Given the description of an element on the screen output the (x, y) to click on. 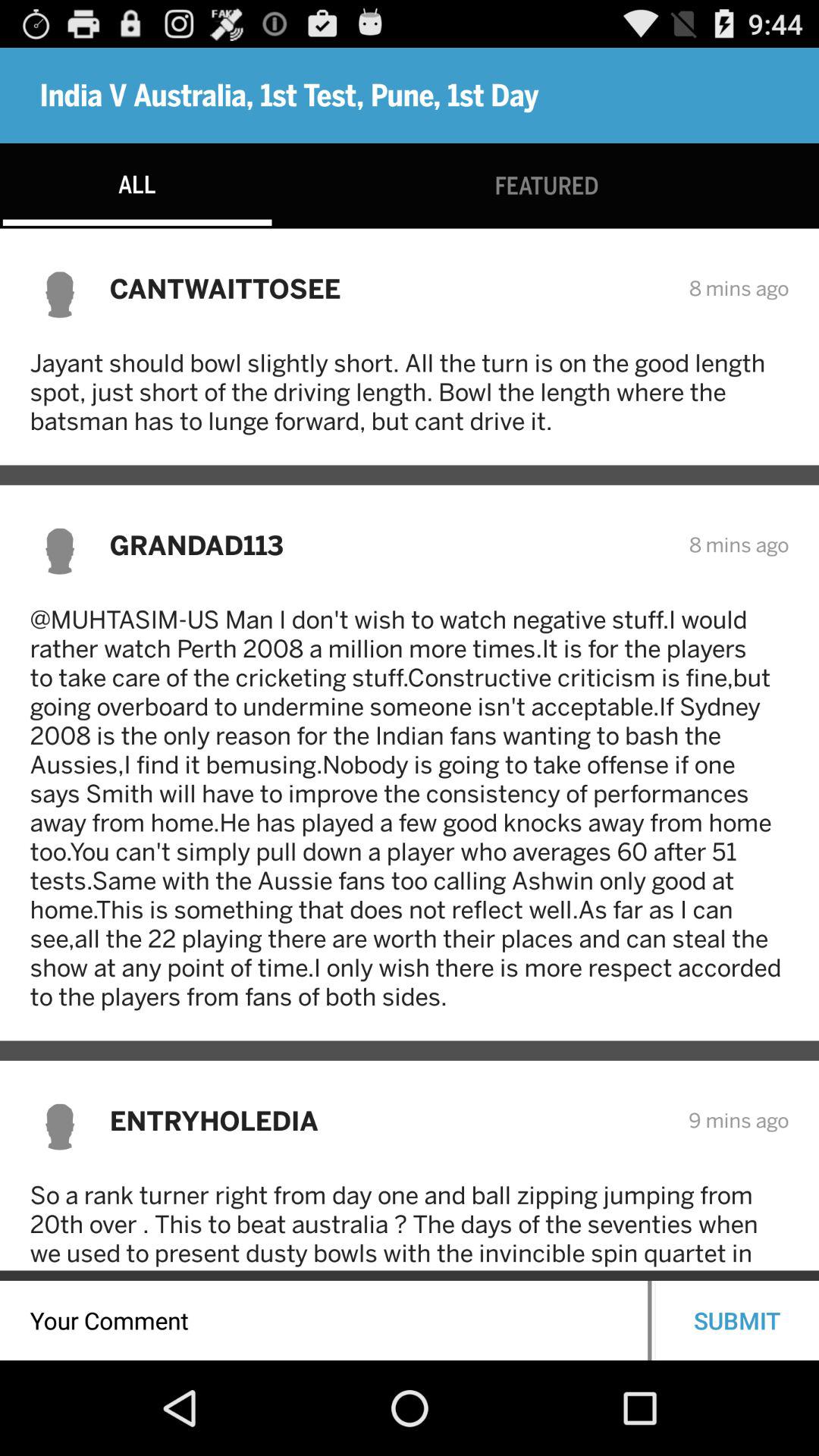
tap the item above the jayant should bowl item (389, 288)
